Given the description of an element on the screen output the (x, y) to click on. 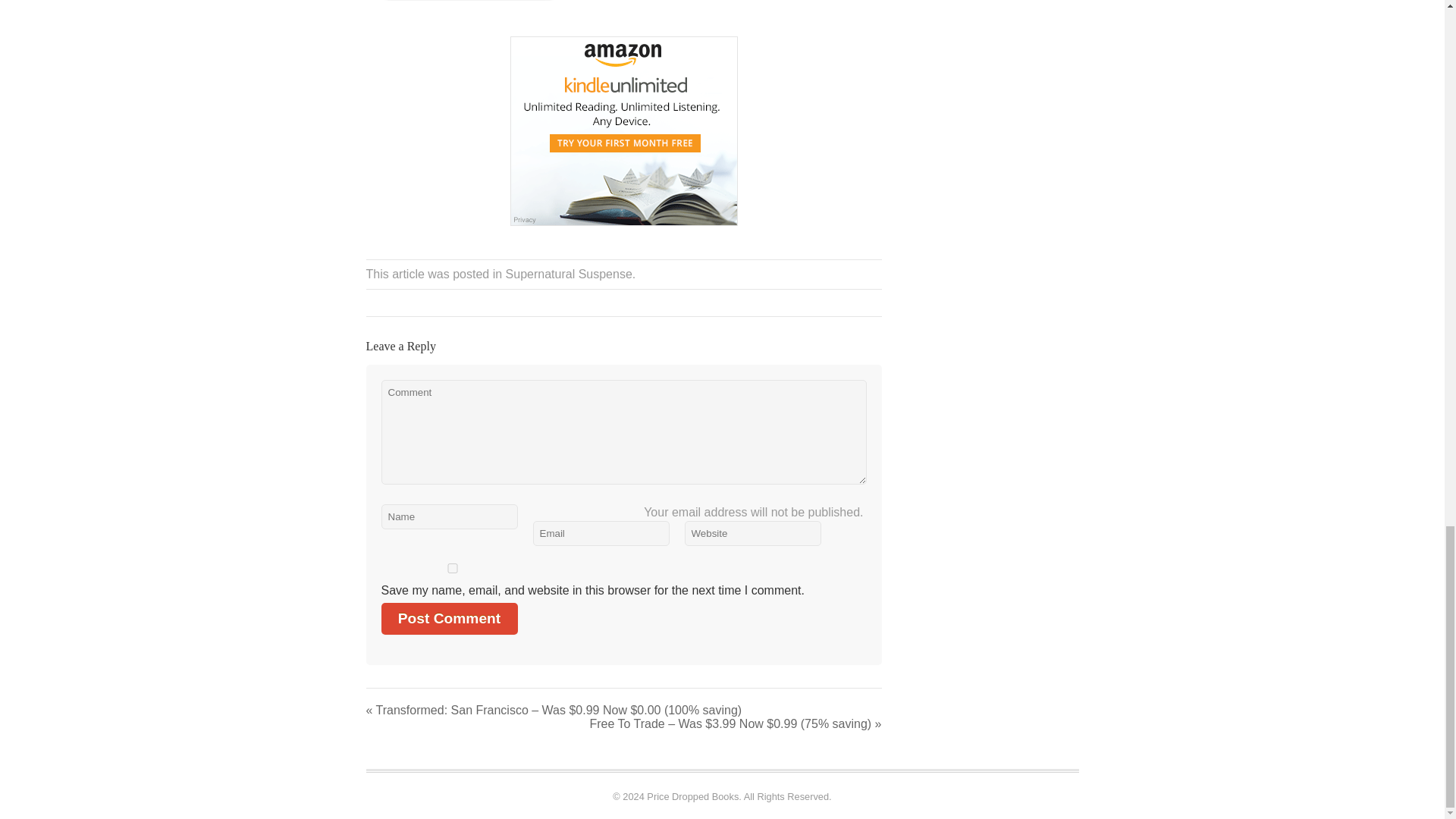
Post Comment (448, 618)
Post Comment (448, 618)
yes (451, 568)
Supernatural Suspense (568, 273)
